Given the description of an element on the screen output the (x, y) to click on. 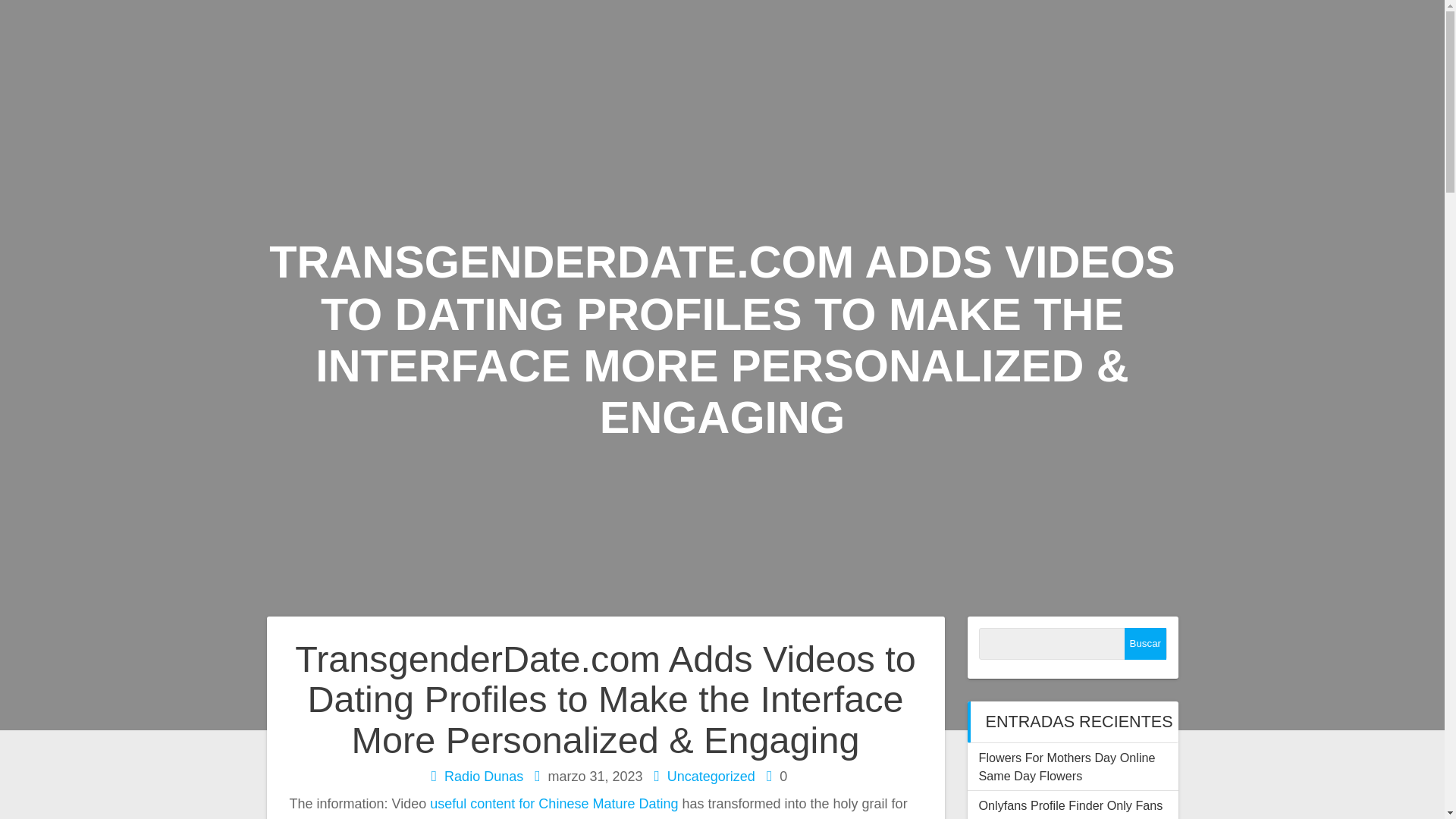
AUDIOS (1095, 34)
EQUIPO (1200, 34)
PROGRAMAS (812, 34)
MULTIMEDIA (689, 104)
useful content for Chinese Mature Dating (553, 803)
Flowers For Mothers Day Online Same Day Flowers (1066, 766)
NOTICIAS (1313, 34)
Buscar (1145, 644)
PUBLICIDAD (544, 104)
CONTACTE (1308, 173)
